Given the description of an element on the screen output the (x, y) to click on. 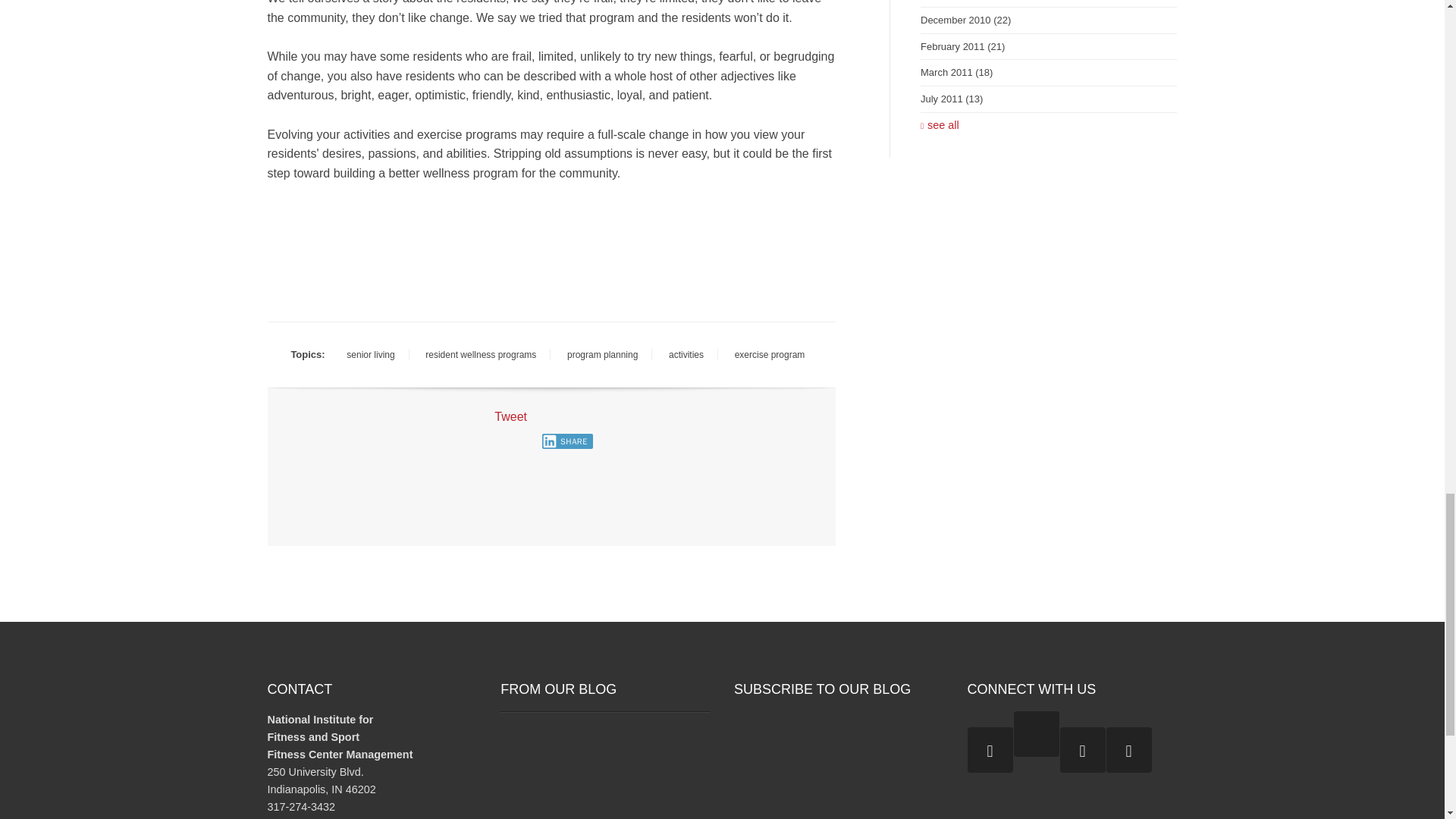
senior living (370, 354)
Follow us on Linkedin (1128, 750)
Tweet (511, 416)
SHARE (566, 441)
Follow us on Facebook (1082, 750)
Follow us on Instagram (1036, 733)
activities (686, 354)
Follow us on Twitter (990, 750)
exercise program (769, 354)
resident wellness programs (480, 354)
program planning (602, 354)
